Given the description of an element on the screen output the (x, y) to click on. 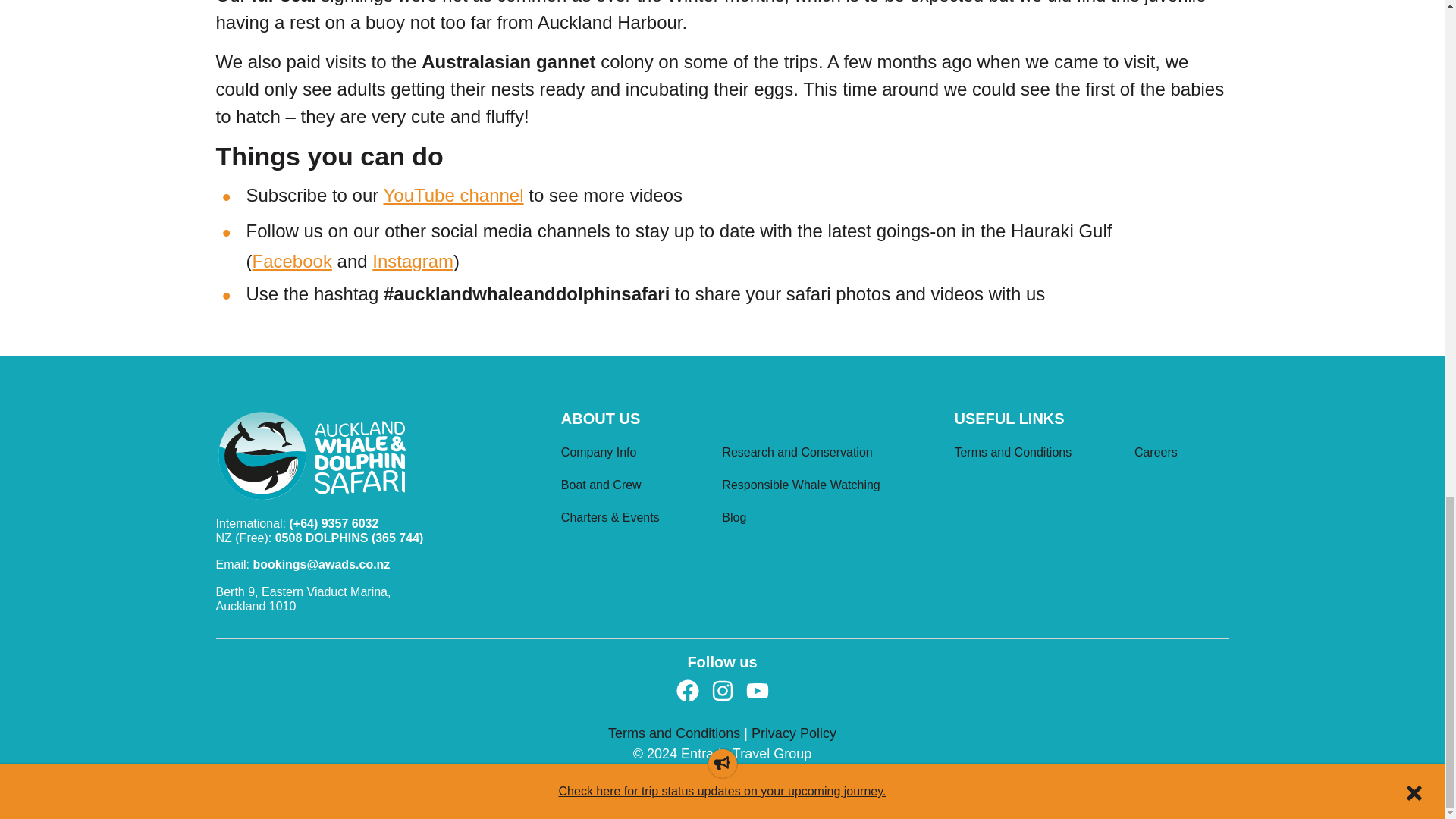
Instagram (412, 260)
Facebook (291, 260)
Terms and Conditions (676, 733)
Boat and Crew (635, 486)
Careers (1181, 454)
Research and Conservation (826, 454)
Privacy Policy (793, 733)
YouTube channel (454, 195)
Company Info (635, 454)
Responsible Whale Watching (826, 486)
